Given the description of an element on the screen output the (x, y) to click on. 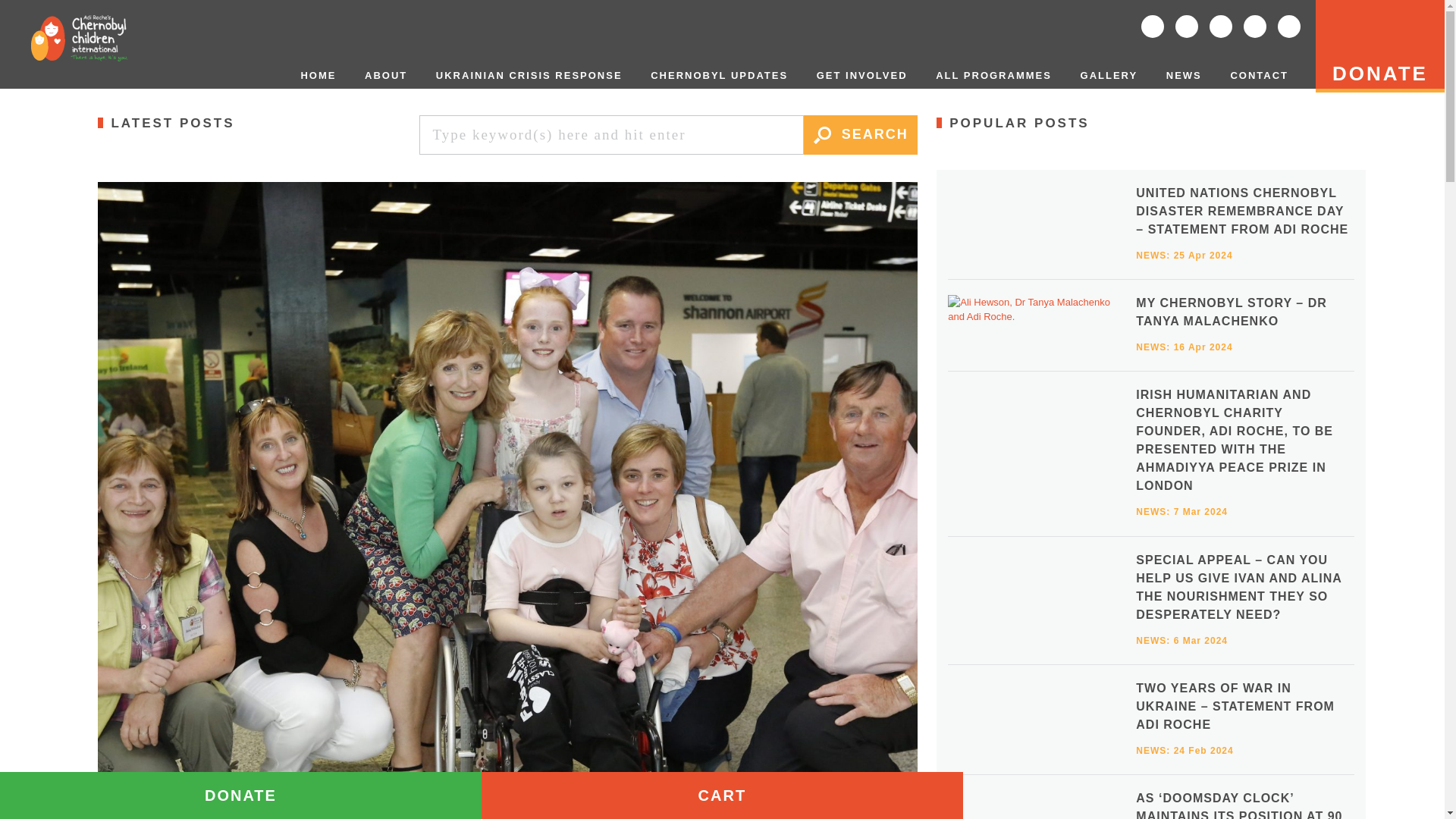
CHERNOBYL UPDATES (719, 75)
ALL PROGRAMMES (993, 75)
GET INVOLVED (862, 75)
UKRAINIAN CRISIS RESPONSE (528, 75)
Twitter (1186, 26)
SEARCH (860, 134)
LinkedIn (1220, 26)
ABOUT (385, 75)
Youtube (1289, 26)
GALLERY (1109, 75)
Facebook (1152, 26)
NEWS (1184, 75)
Chernobyl Children International (79, 37)
CONTACT (1258, 75)
Instagram (1254, 26)
